Given the description of an element on the screen output the (x, y) to click on. 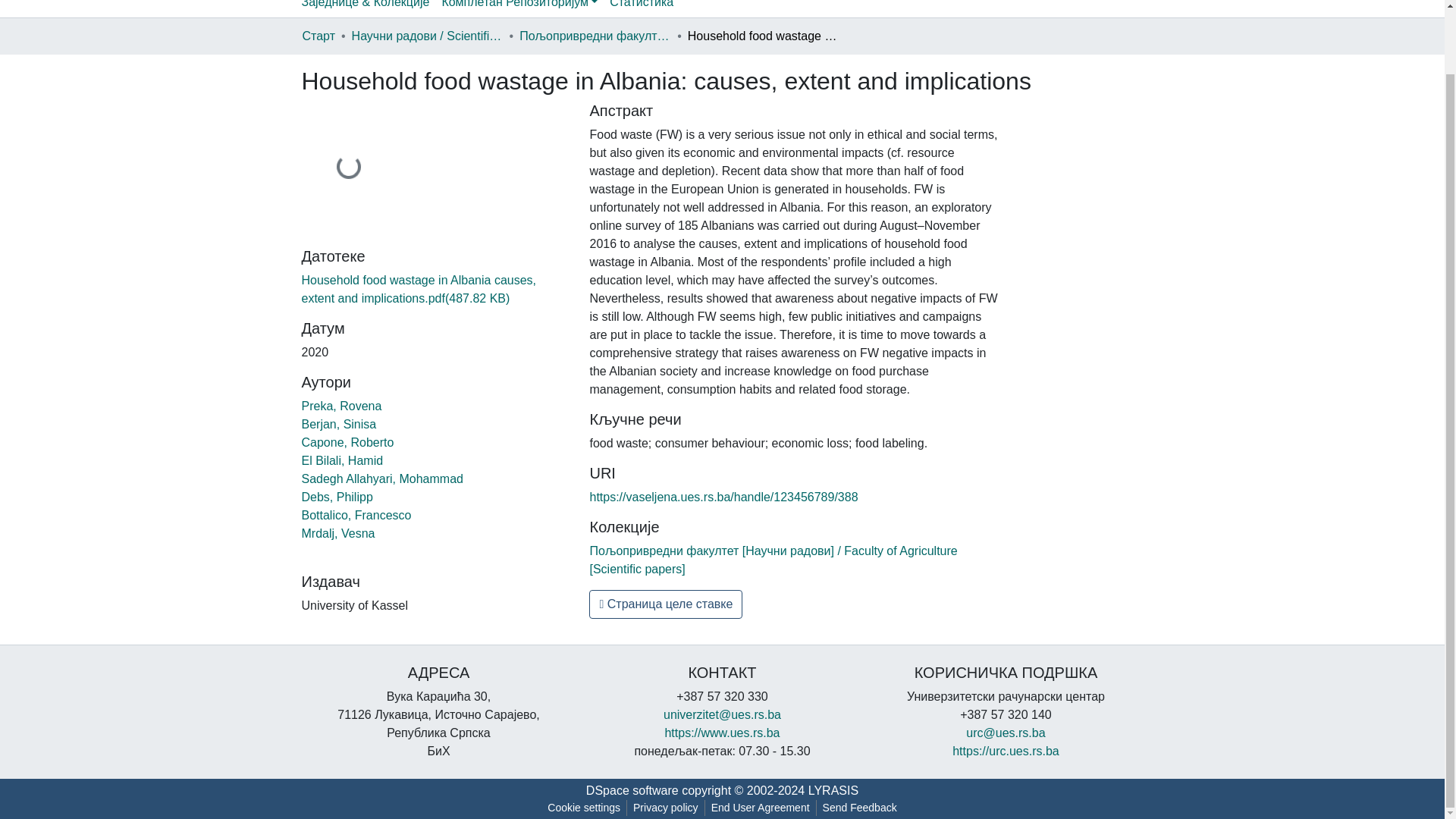
Mrdalj, Vesna (338, 533)
El Bilali, Hamid (342, 460)
DSpace software (632, 789)
Bottalico, Francesco (356, 514)
UIS (1005, 750)
Debs, Philipp (336, 496)
Privacy policy (665, 807)
End User Agreement (759, 807)
Cookie settings (583, 807)
LYRASIS (833, 789)
UIS (720, 732)
Capone, Roberto (347, 441)
Sadegh Allahyari, Mohammad (382, 478)
Berjan, Sinisa (339, 423)
Send Feedback (859, 807)
